Given the description of an element on the screen output the (x, y) to click on. 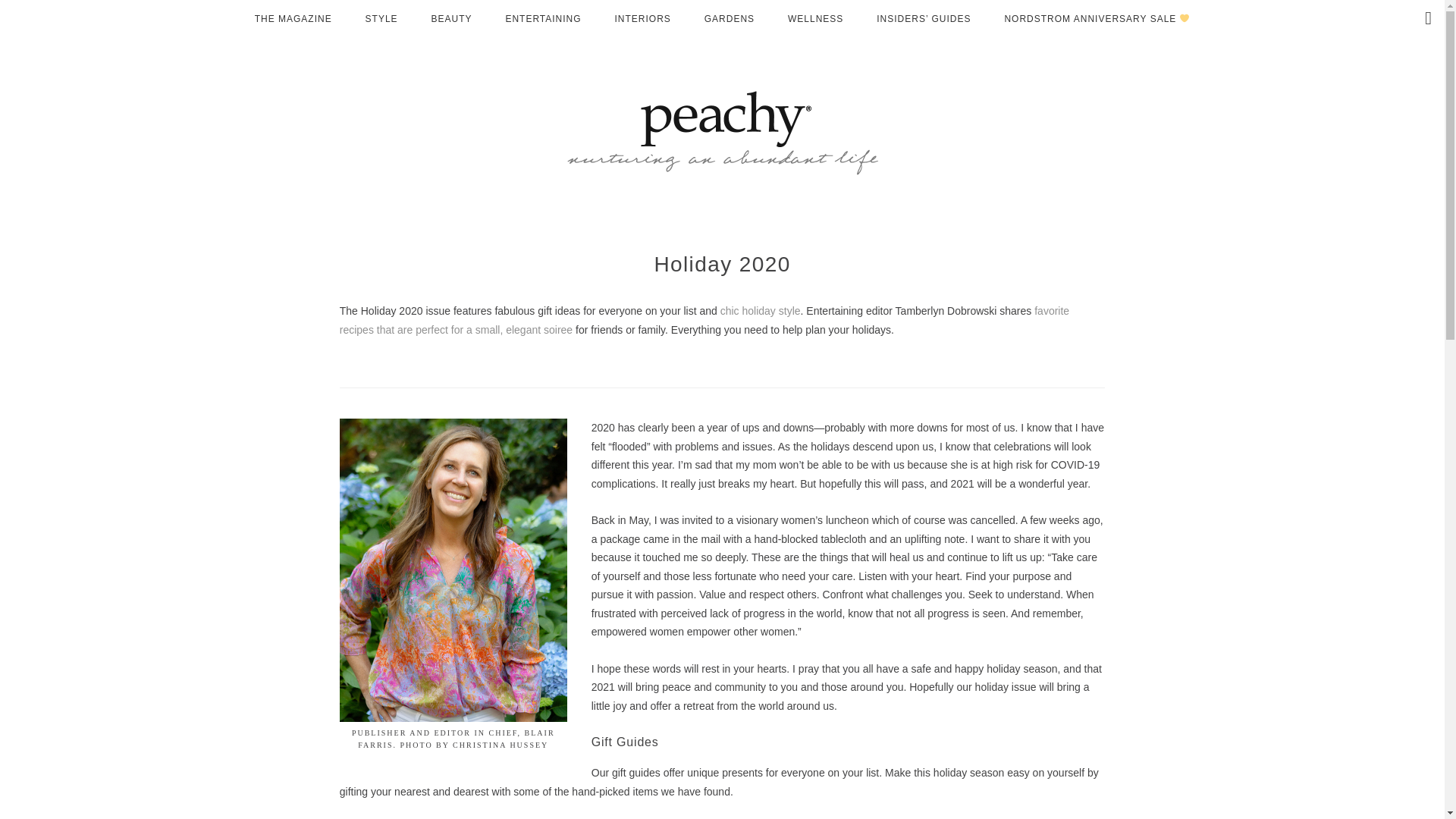
THE MAGAZINE (293, 19)
